Given the description of an element on the screen output the (x, y) to click on. 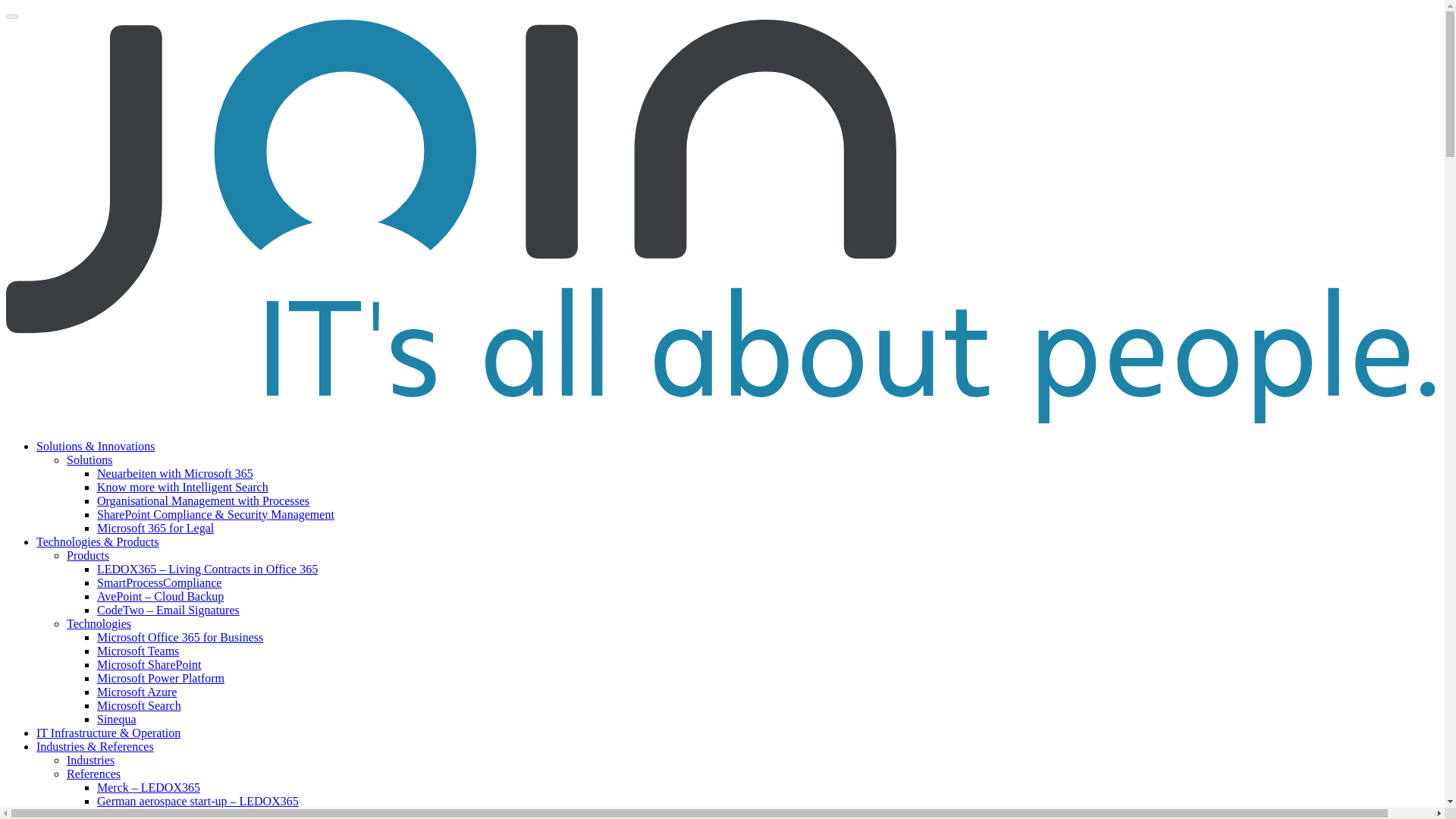
Microsoft 365 for Legal (155, 527)
Neuarbeiten with Microsoft 365 (175, 472)
SmartProcessCompliance (159, 582)
Industries (90, 759)
Know more with Intelligent Search (182, 486)
Technologies (98, 623)
Sinequa (116, 718)
Microsoft Azure (136, 691)
Microsoft SharePoint (148, 664)
Organisational Management with Processes (202, 500)
Products (87, 554)
Microsoft Power Platform (160, 677)
Microsoft Office 365 for Business (180, 636)
Microsoft Search (138, 705)
Microsoft Teams (138, 650)
